Given the description of an element on the screen output the (x, y) to click on. 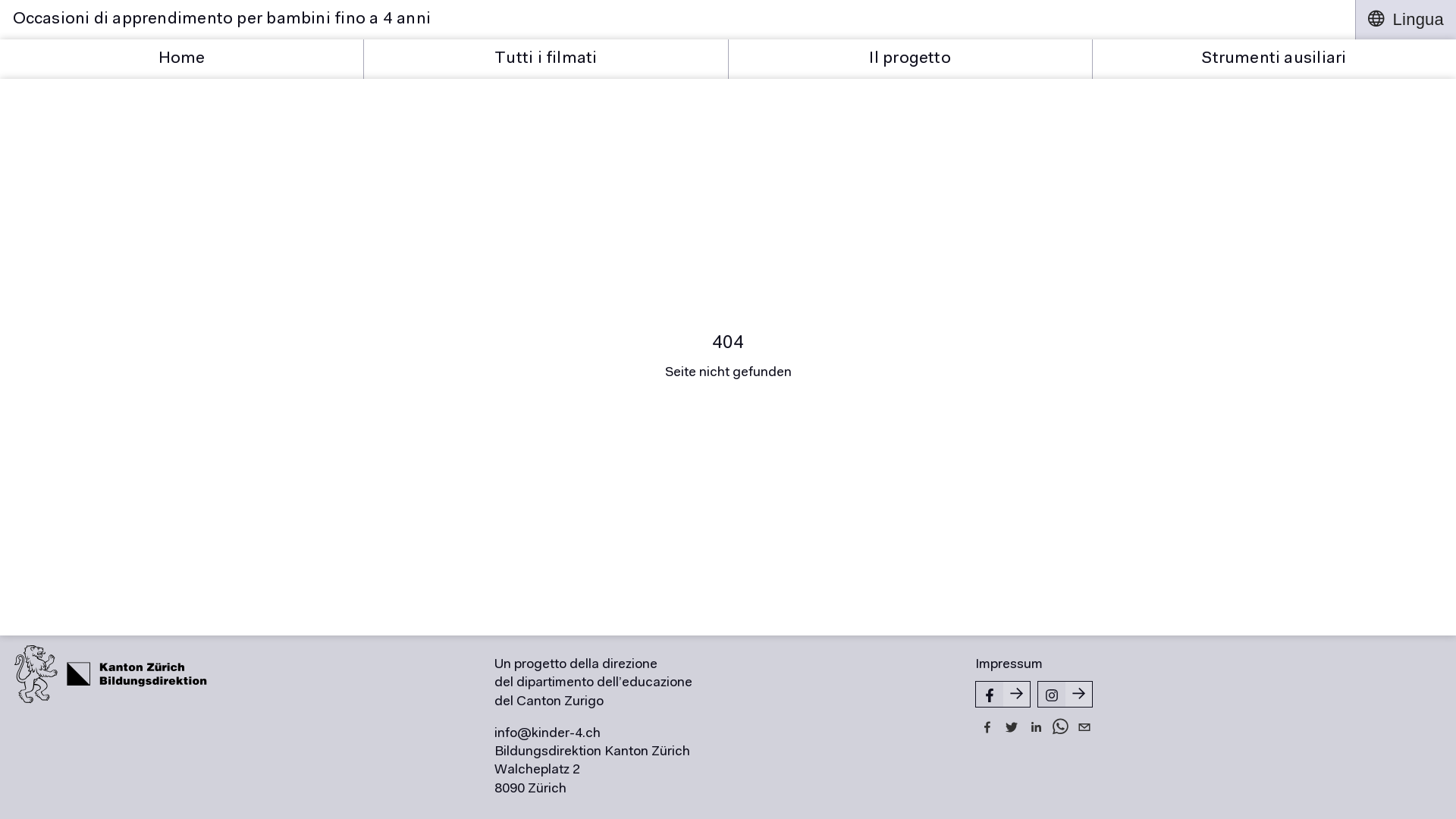
Home Element type: text (181, 58)
Tutti i filmati Element type: text (545, 58)
info@kinder-4.ch Element type: text (547, 733)
Il progetto Element type: text (909, 58)
Impressum Element type: text (1008, 664)
Occasioni di apprendimento per bambini fino a 4 anni Element type: text (677, 19)
